Given the description of an element on the screen output the (x, y) to click on. 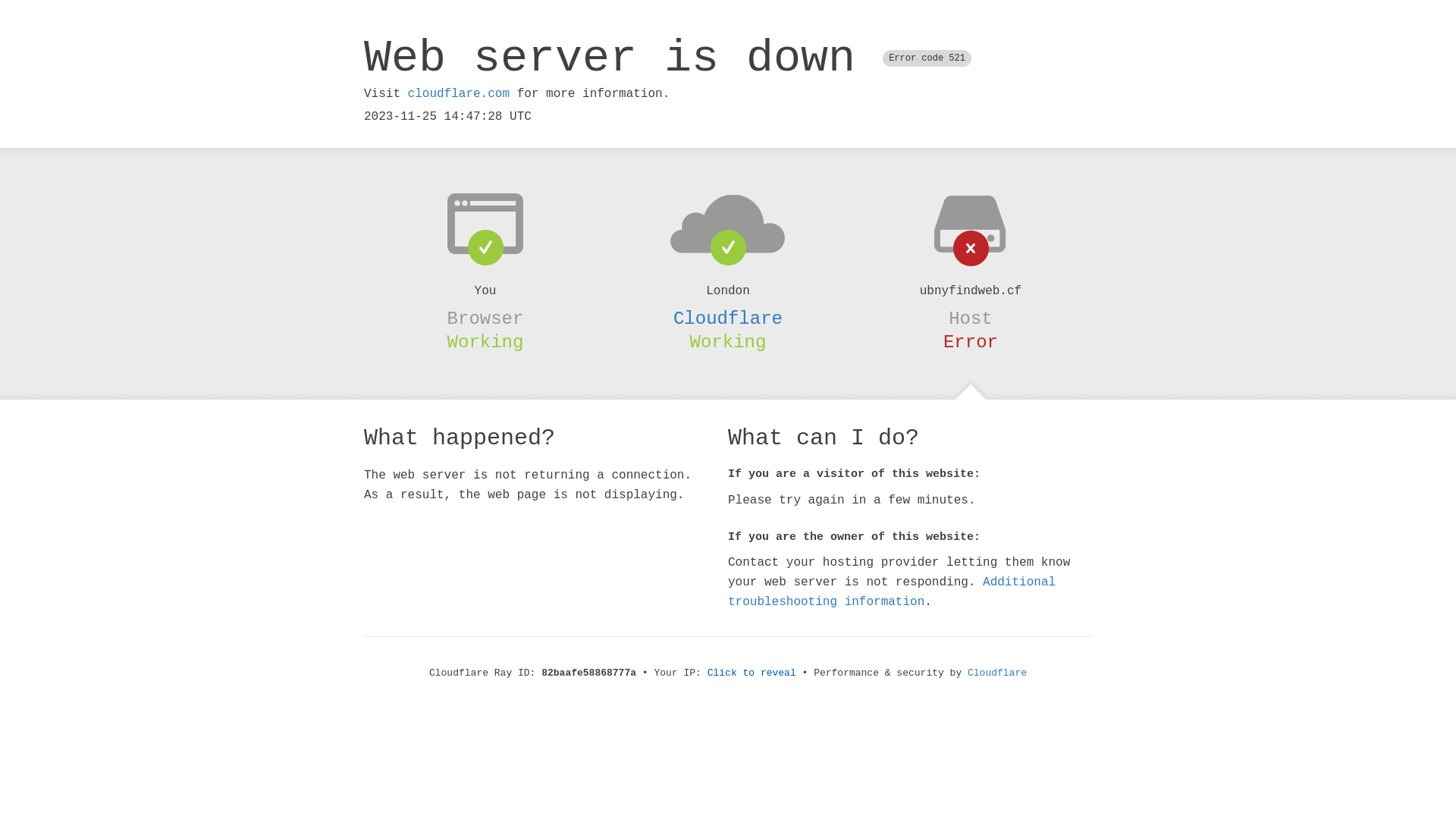
Click to reveal Element type: text (751, 672)
Cloudflare Element type: text (727, 318)
Cloudflare Element type: text (996, 672)
cloudflare.com Element type: text (458, 93)
Additional troubleshooting information Element type: text (891, 591)
